Given the description of an element on the screen output the (x, y) to click on. 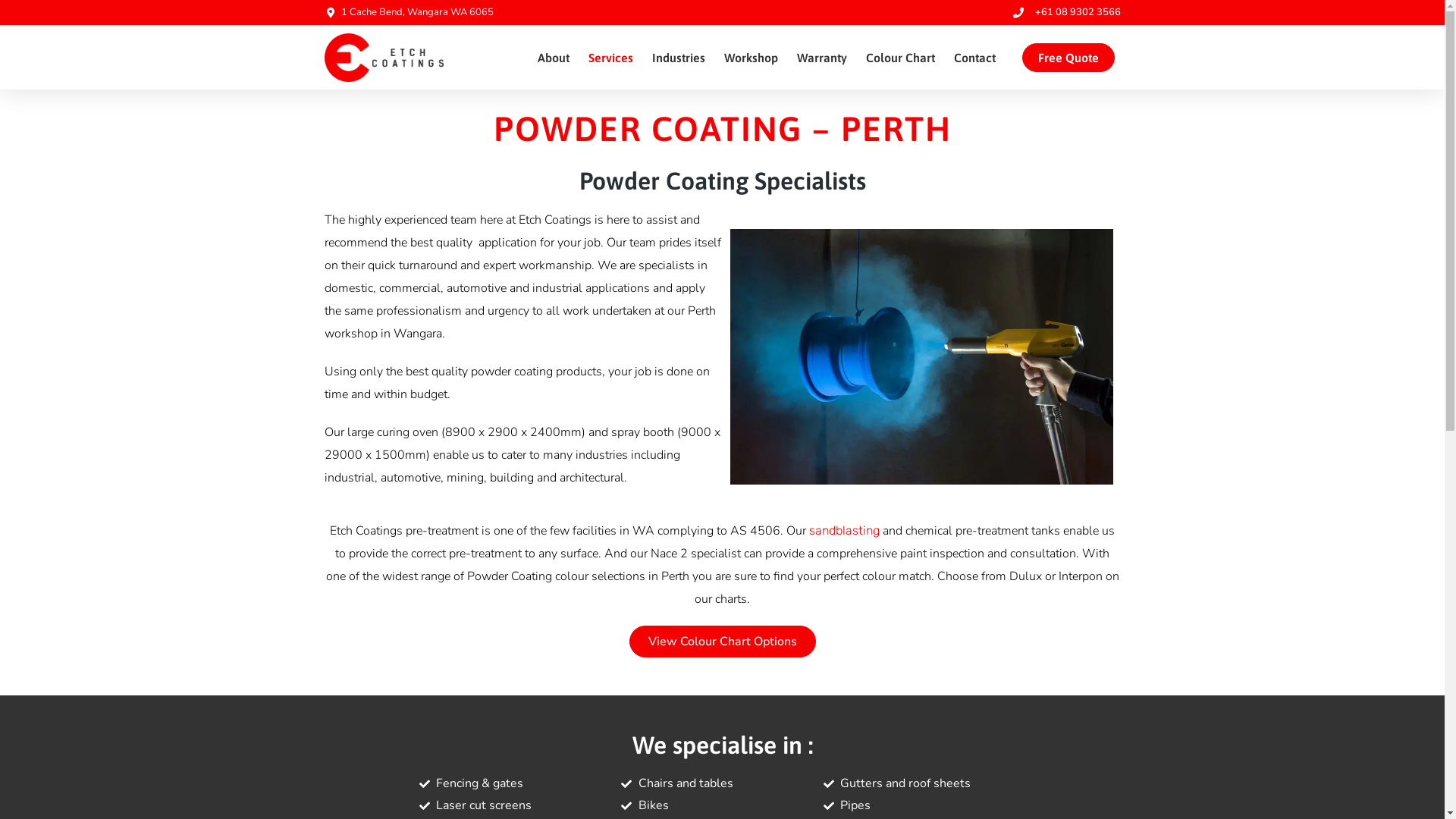
Industries Element type: text (678, 57)
+61 08 9302 3566 Element type: text (1065, 12)
View Colour Chart Options Element type: text (722, 641)
Workshop Element type: text (751, 57)
Warranty Element type: text (822, 57)
Colour Chart Element type: text (900, 57)
sandblasting Element type: text (844, 530)
About Element type: text (553, 57)
Contact Element type: text (974, 57)
Services Element type: text (610, 57)
Free Quote Element type: text (1068, 57)
